Given the description of an element on the screen output the (x, y) to click on. 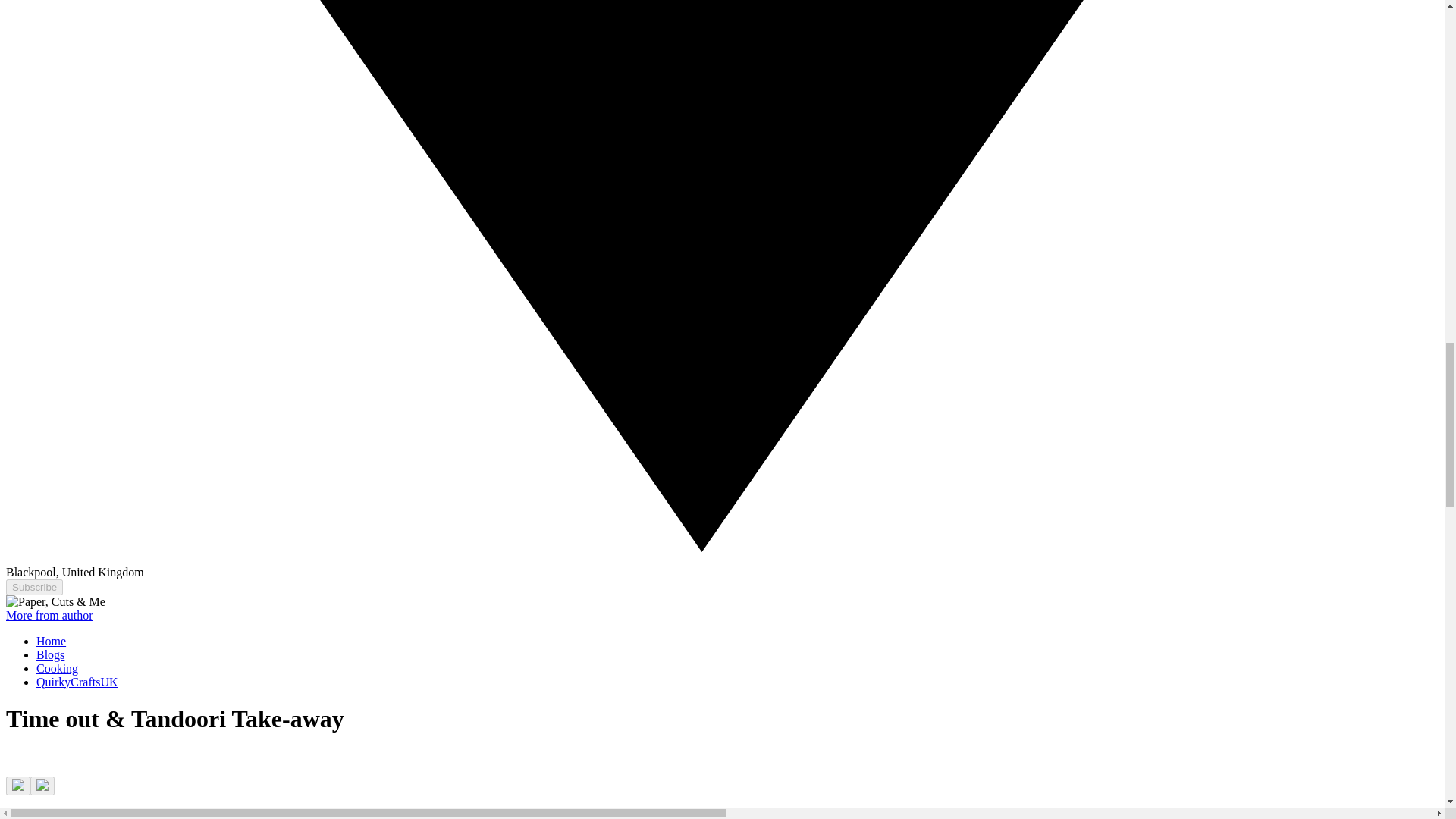
Subscribe (33, 587)
Cooking (57, 667)
QuirkyCraftsUK (76, 681)
Home (50, 640)
Blogs (50, 654)
More from author (49, 615)
